Given the description of an element on the screen output the (x, y) to click on. 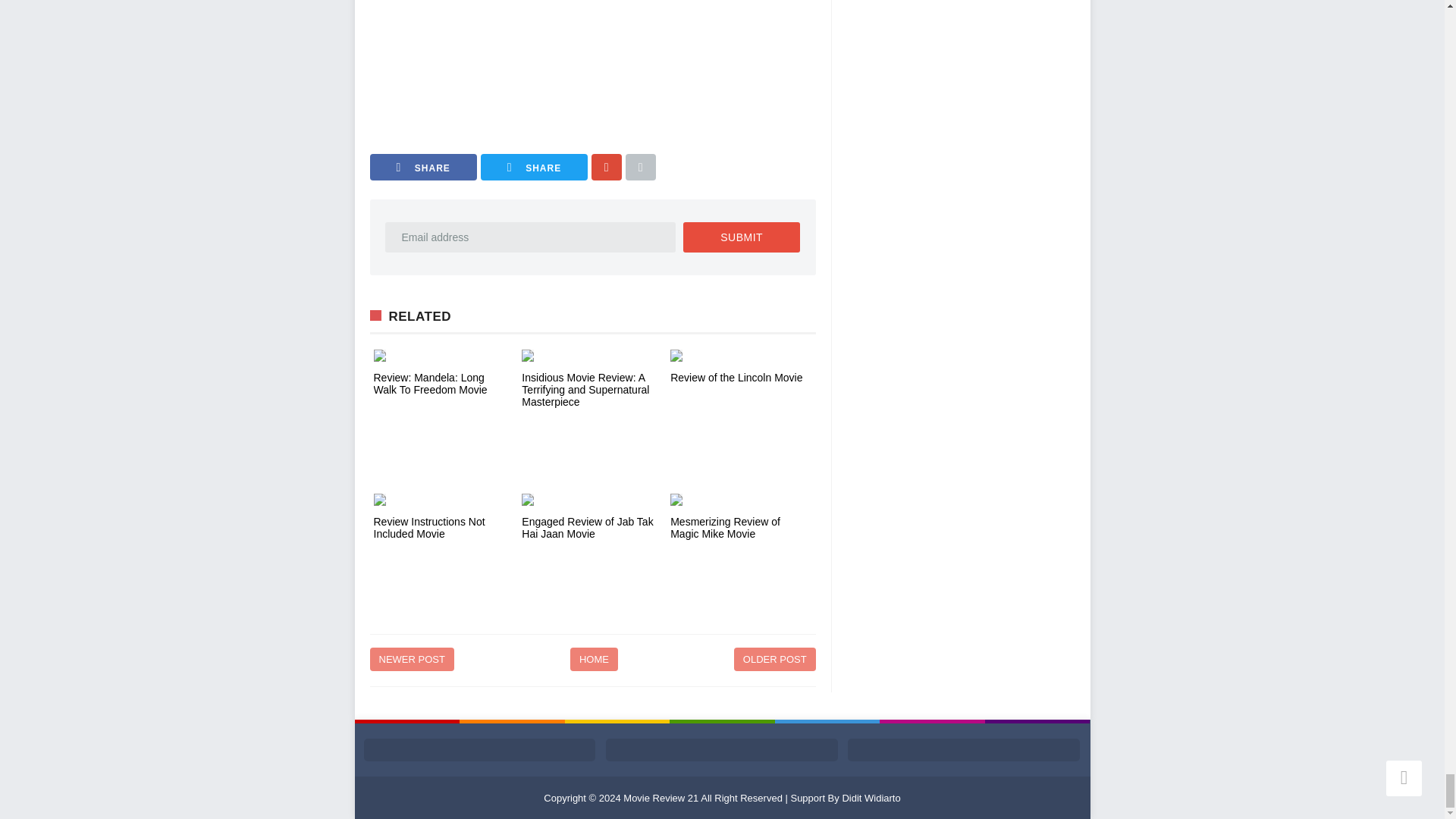
Mesmerizing Review of Magic Mike Movie (739, 498)
Share to Facebook (423, 166)
Submit (740, 236)
Review: Mandela: Long Walk To Freedom Movie (442, 383)
Share to Twitter (534, 166)
Review Patch Town Movie (581, 64)
Submit (740, 236)
Engaged Review of Jab Tak Hai Jaan Movie (591, 498)
Review of the Lincoln Movie (739, 377)
SHARE (534, 166)
SHARE (423, 166)
Newer Post (411, 658)
Review Instructions Not Included Movie (442, 498)
